Given the description of an element on the screen output the (x, y) to click on. 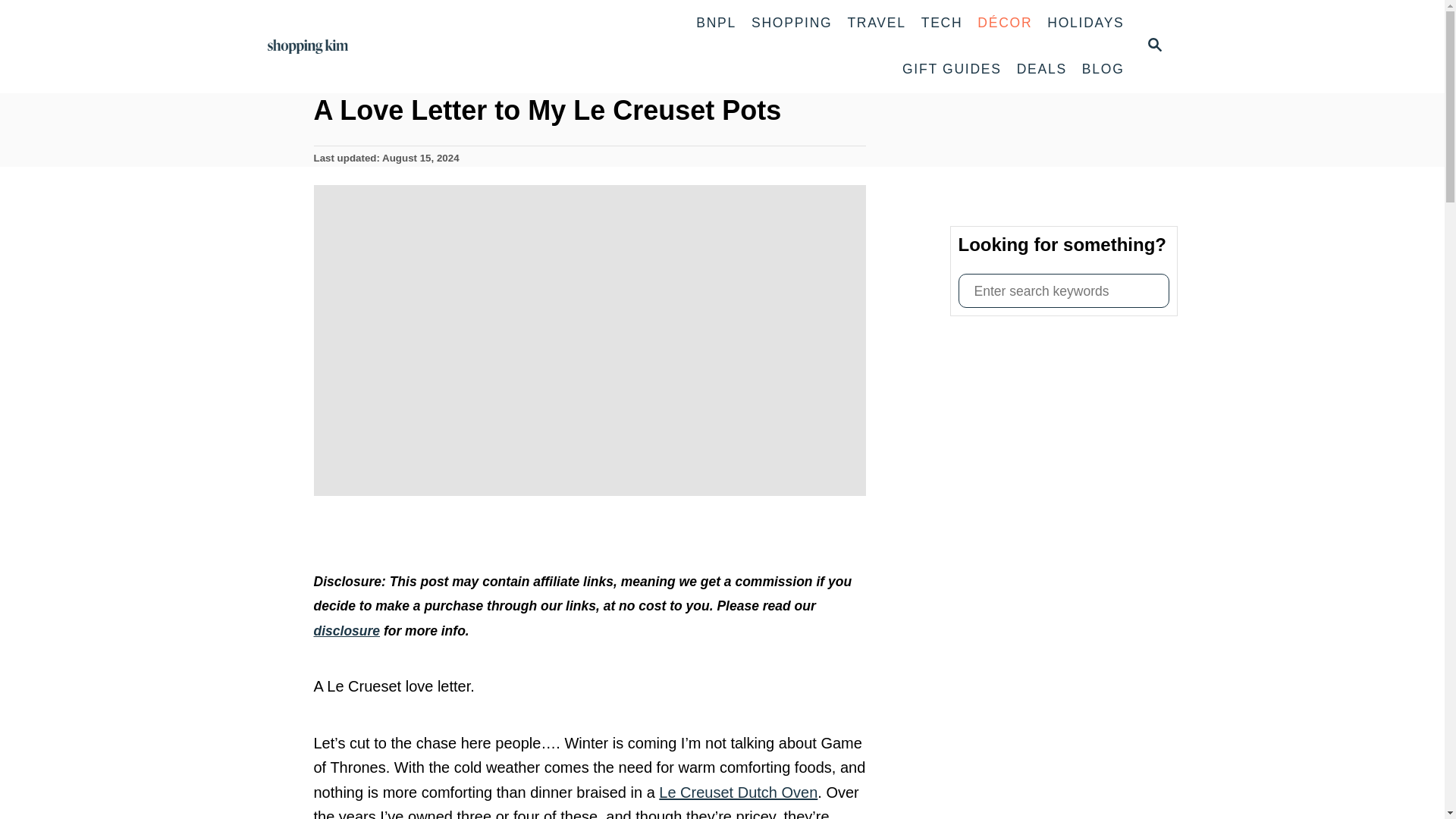
BLOG (1103, 69)
DEALS (1153, 46)
Search for: (1041, 69)
TECH (1063, 290)
disclosure (942, 23)
Shopping Kim (347, 630)
SHOPPING (312, 46)
Le Creuset Dutch Oven (792, 23)
BNPL (737, 791)
